Given the description of an element on the screen output the (x, y) to click on. 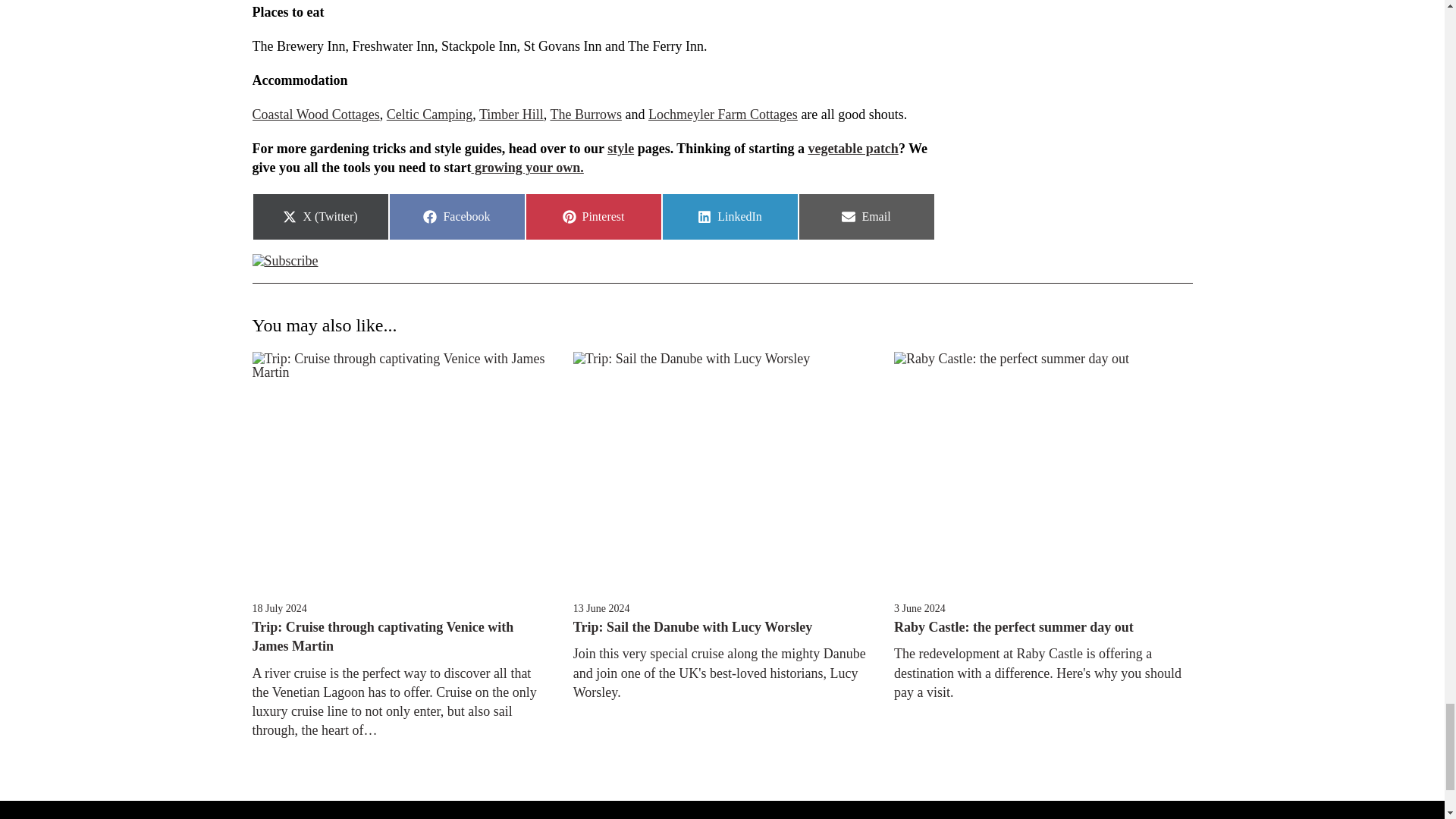
Coastal Wood Cottages (314, 114)
